Given the description of an element on the screen output the (x, y) to click on. 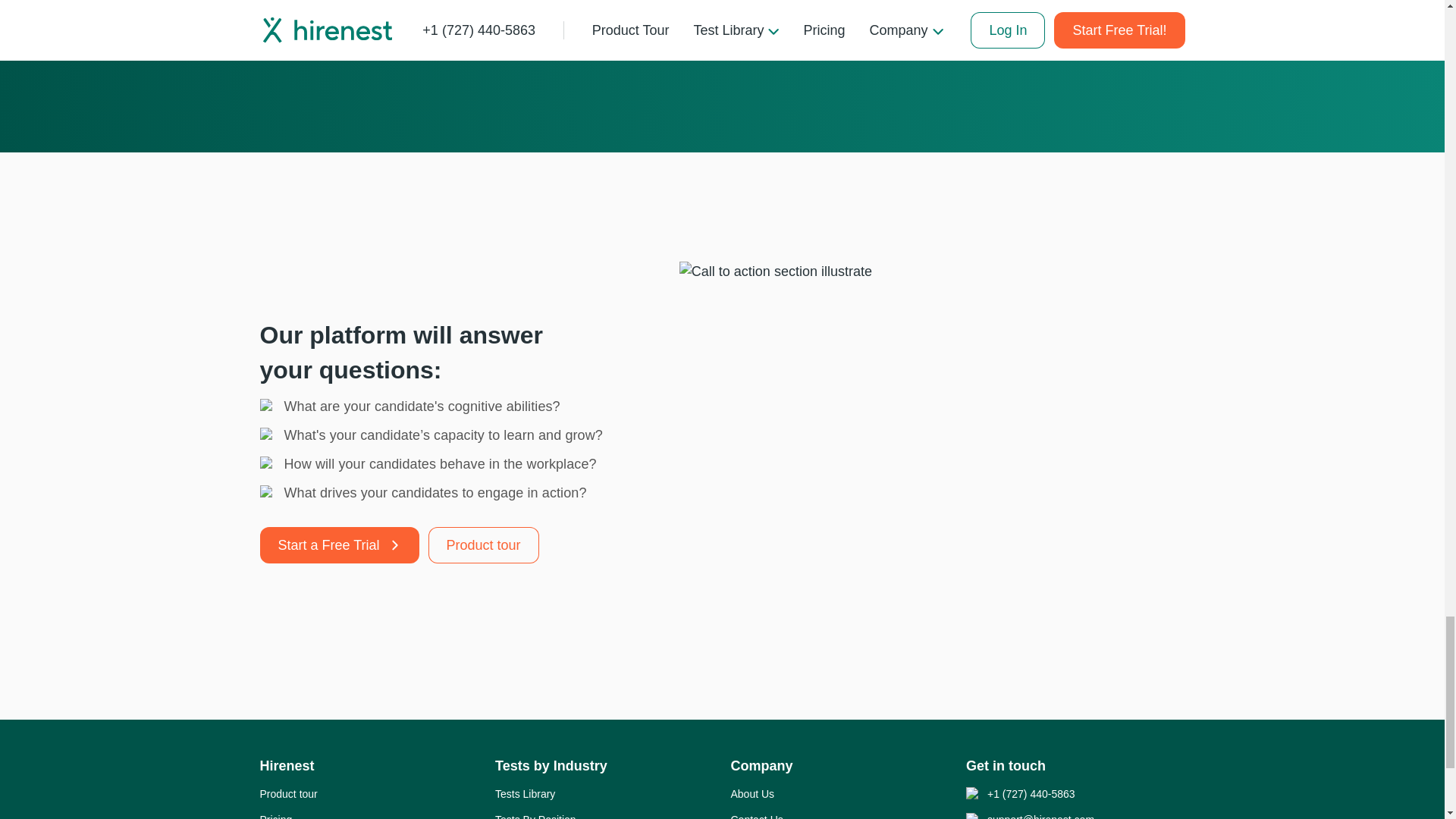
Contact Us (756, 815)
Product tour (483, 545)
Tests Library (524, 793)
About Us (752, 793)
Product tour (288, 793)
Tests by Industry (551, 765)
Hirenest (286, 765)
Pricing (275, 815)
Tests By Position (535, 815)
Start a Free Trial (339, 545)
